Given the description of an element on the screen output the (x, y) to click on. 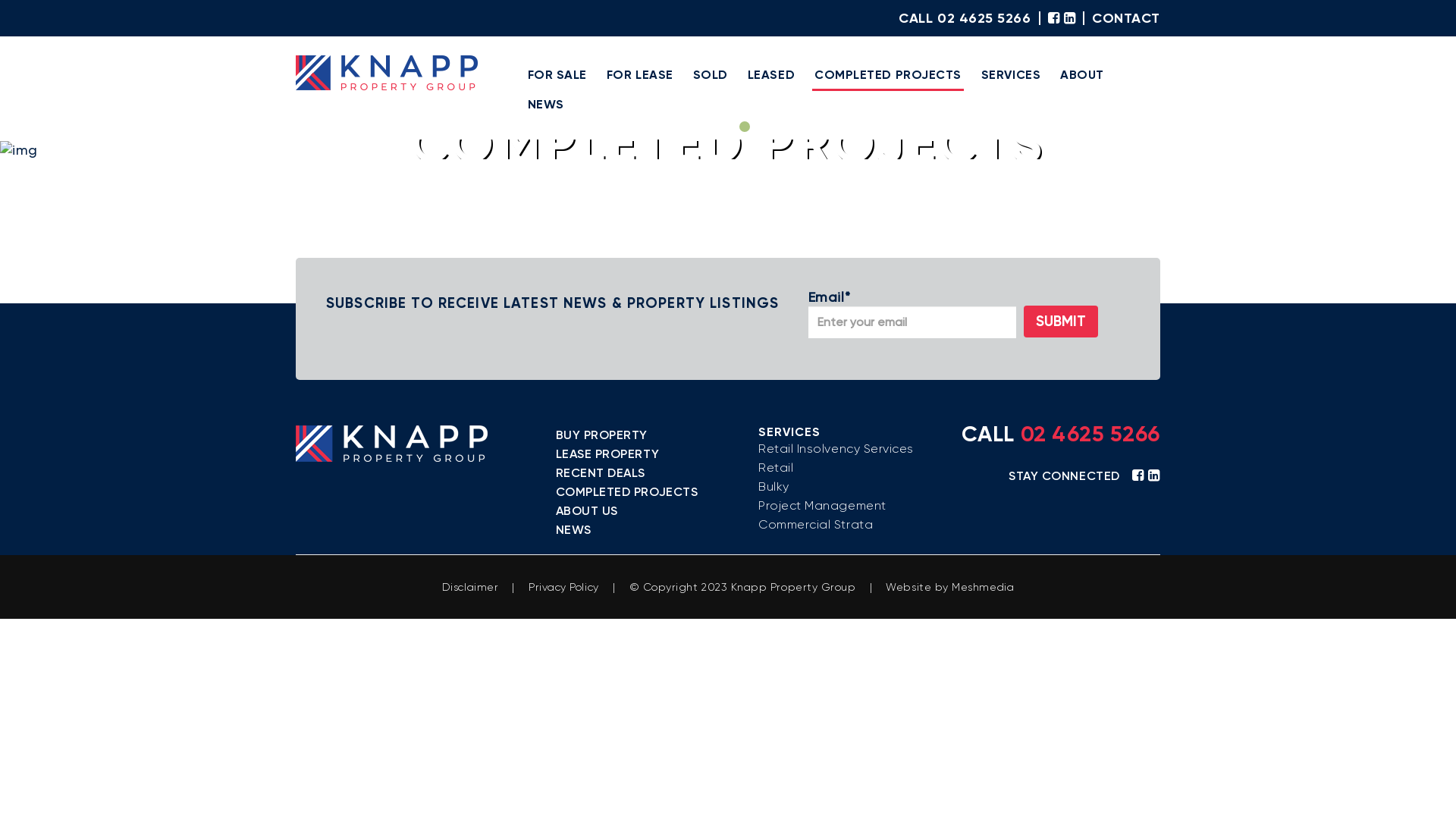
Disclaimer Element type: text (470, 586)
FOR SALE Element type: text (556, 76)
Commercial Strata Element type: text (815, 524)
LEASED Element type: text (771, 76)
Retail Element type: text (775, 467)
LEASE PROPERTY Element type: text (606, 453)
SUBMIT Element type: text (1060, 320)
CONTACT Element type: text (1121, 18)
SOLD Element type: text (710, 76)
SERVICES Element type: text (1010, 76)
Project Management Element type: text (822, 505)
NEWS Element type: text (544, 105)
BUY PROPERTY Element type: text (600, 434)
Bulky Element type: text (773, 486)
CALL 02 4625 5266 Element type: text (968, 18)
ABOUT Element type: text (1081, 76)
NEWS Element type: text (572, 529)
Privacy Policy Element type: text (565, 586)
COMPLETED PROJECTS Element type: text (887, 76)
Meshmedia Element type: text (982, 586)
FOR LEASE Element type: text (639, 76)
Retail Insolvency Services Element type: text (835, 448)
ABOUT US Element type: text (586, 510)
02 4625 5266 Element type: text (1090, 433)
RECENT DEALS Element type: text (599, 472)
COMPLETED PROJECTS Element type: text (626, 491)
